Given the description of an element on the screen output the (x, y) to click on. 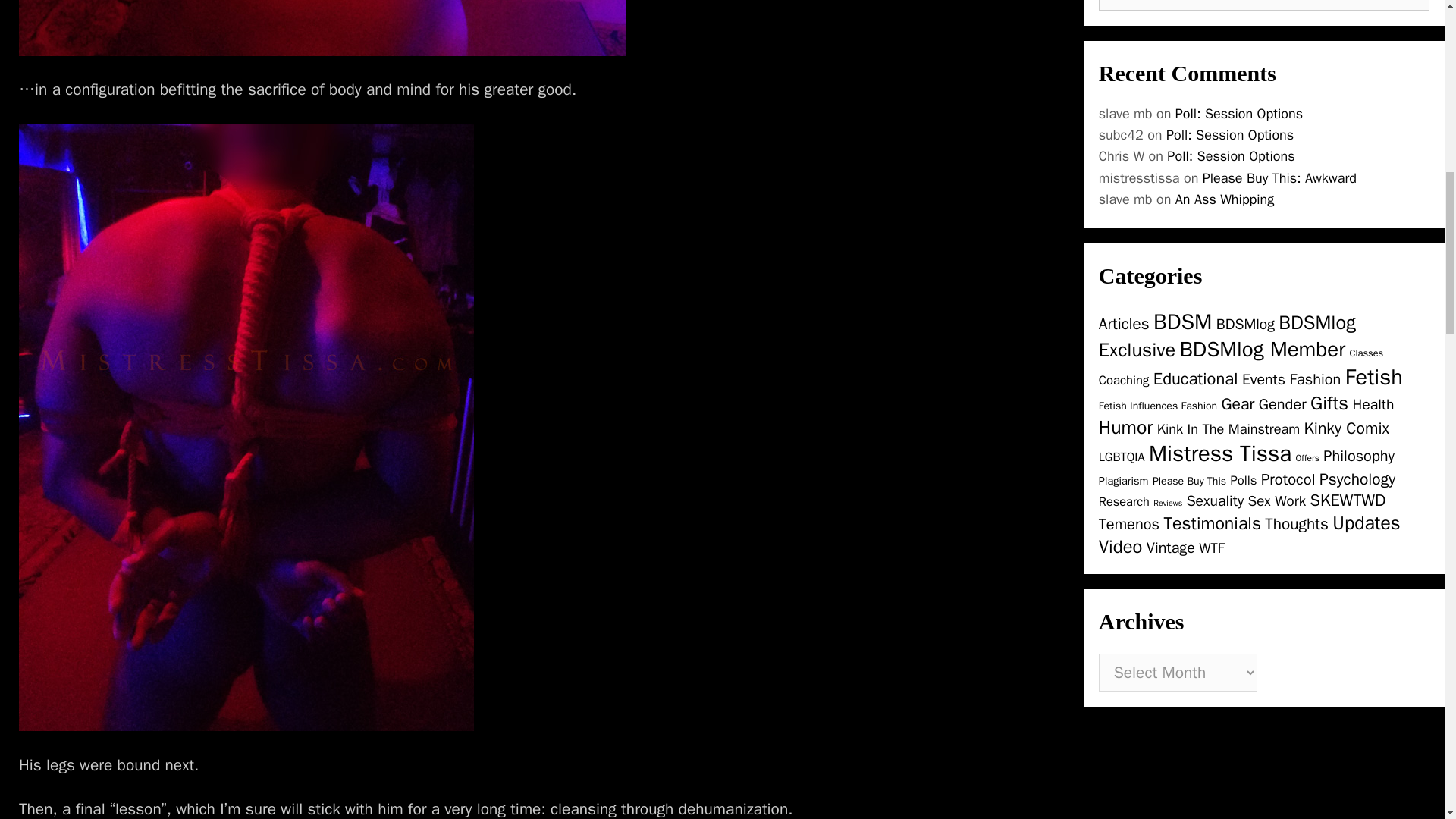
Search for: (1264, 5)
